Given the description of an element on the screen output the (x, y) to click on. 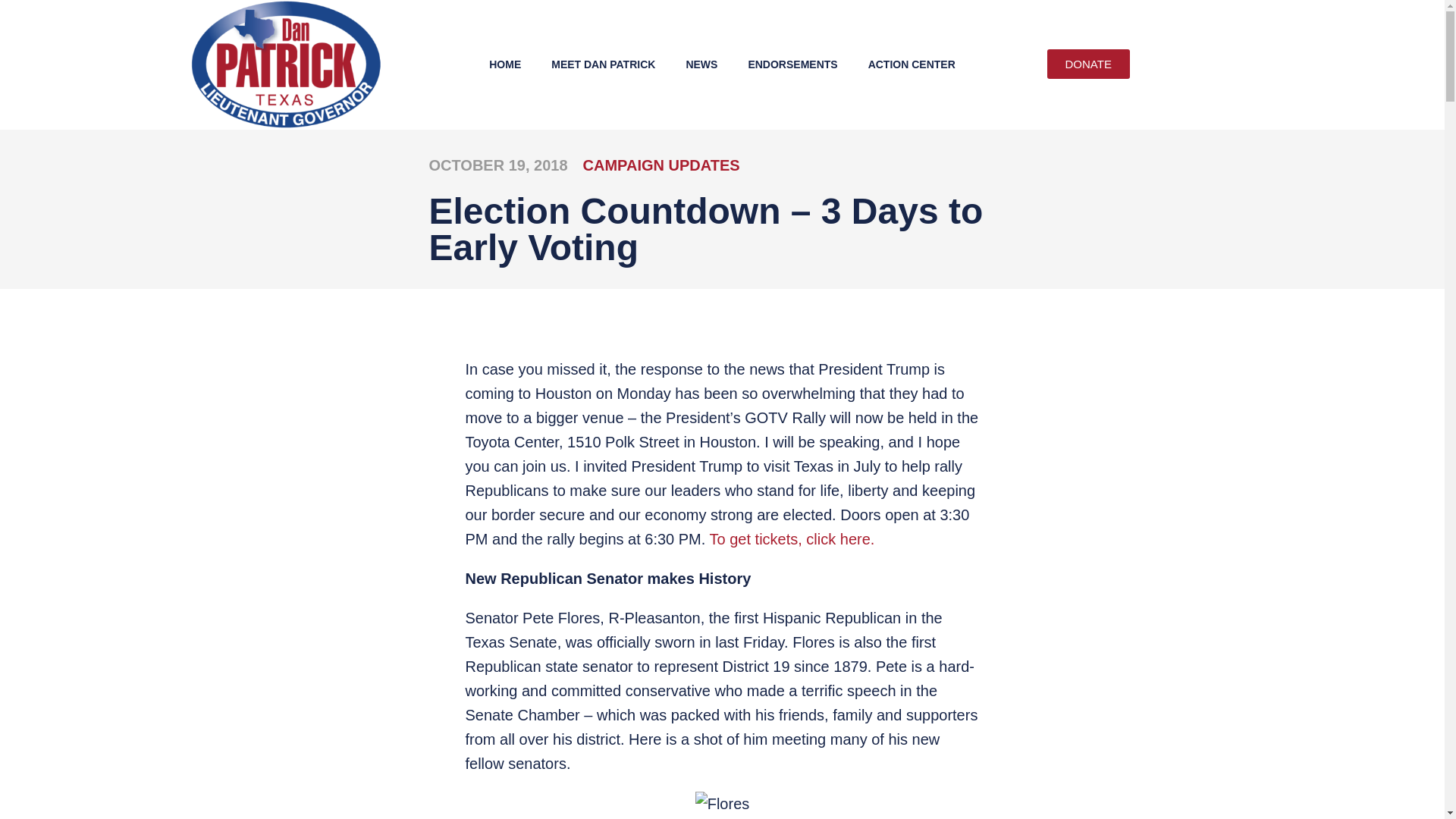
NEWS (700, 63)
ACTION CENTER (912, 63)
MEET DAN PATRICK (602, 63)
ENDORSEMENTS (791, 63)
HOME (504, 63)
To get tickets, click here. (792, 538)
DONATE (1087, 63)
